Given the description of an element on the screen output the (x, y) to click on. 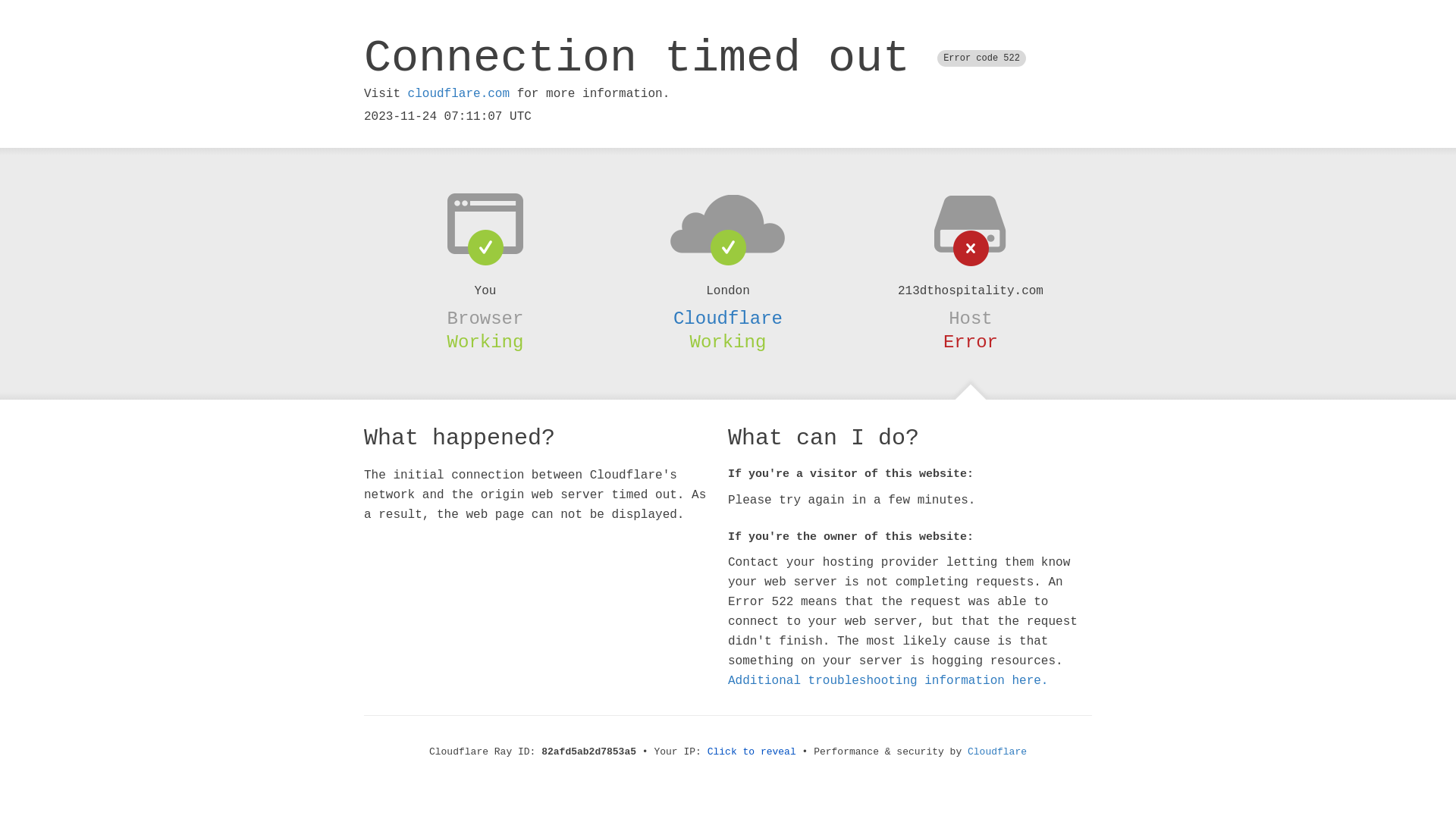
Additional troubleshooting information here. Element type: text (888, 680)
Cloudflare Element type: text (996, 751)
Cloudflare Element type: text (727, 318)
Click to reveal Element type: text (751, 751)
cloudflare.com Element type: text (458, 93)
